Given the description of an element on the screen output the (x, y) to click on. 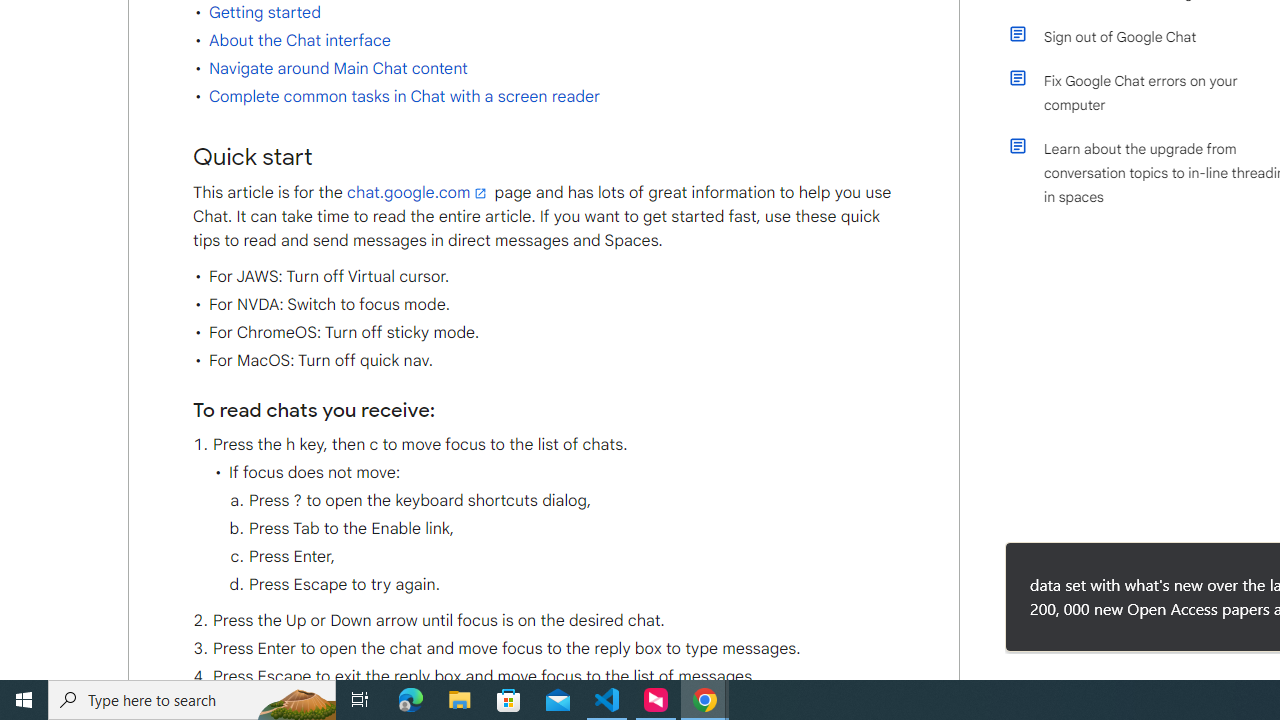
Getting started (264, 12)
About the Chat interface (299, 40)
Complete common tasks in Chat with a screen reader (404, 97)
chat.google.com (418, 192)
Navigate around Main Chat content (338, 69)
